Given the description of an element on the screen output the (x, y) to click on. 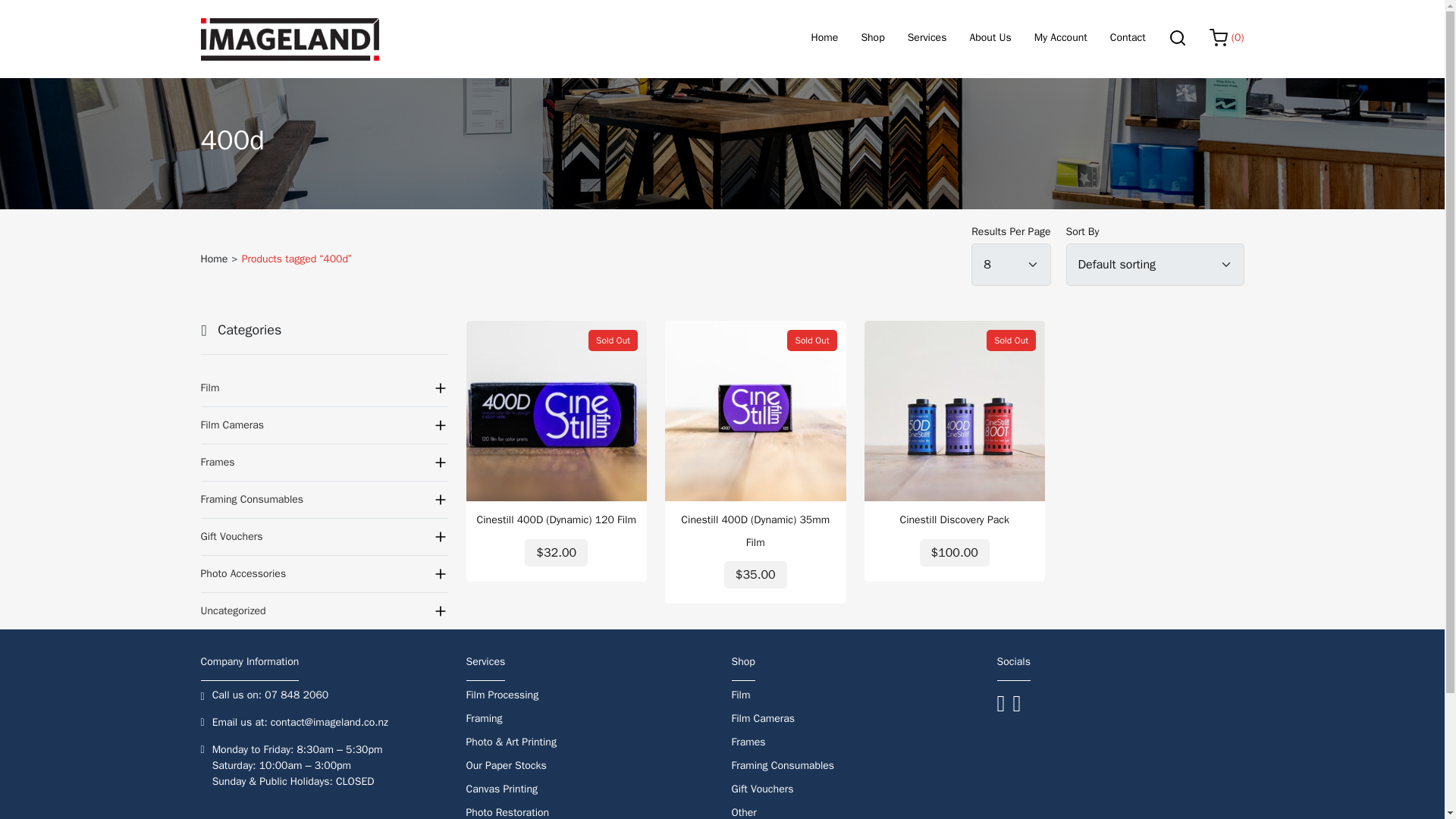
Shop (871, 38)
Services (927, 38)
Contact (1127, 38)
Home (213, 258)
Film (323, 388)
About Us (989, 38)
Home (824, 38)
Home (824, 38)
Imageland (289, 39)
Services (927, 38)
Shop (871, 38)
My Account (1060, 38)
